Given the description of an element on the screen output the (x, y) to click on. 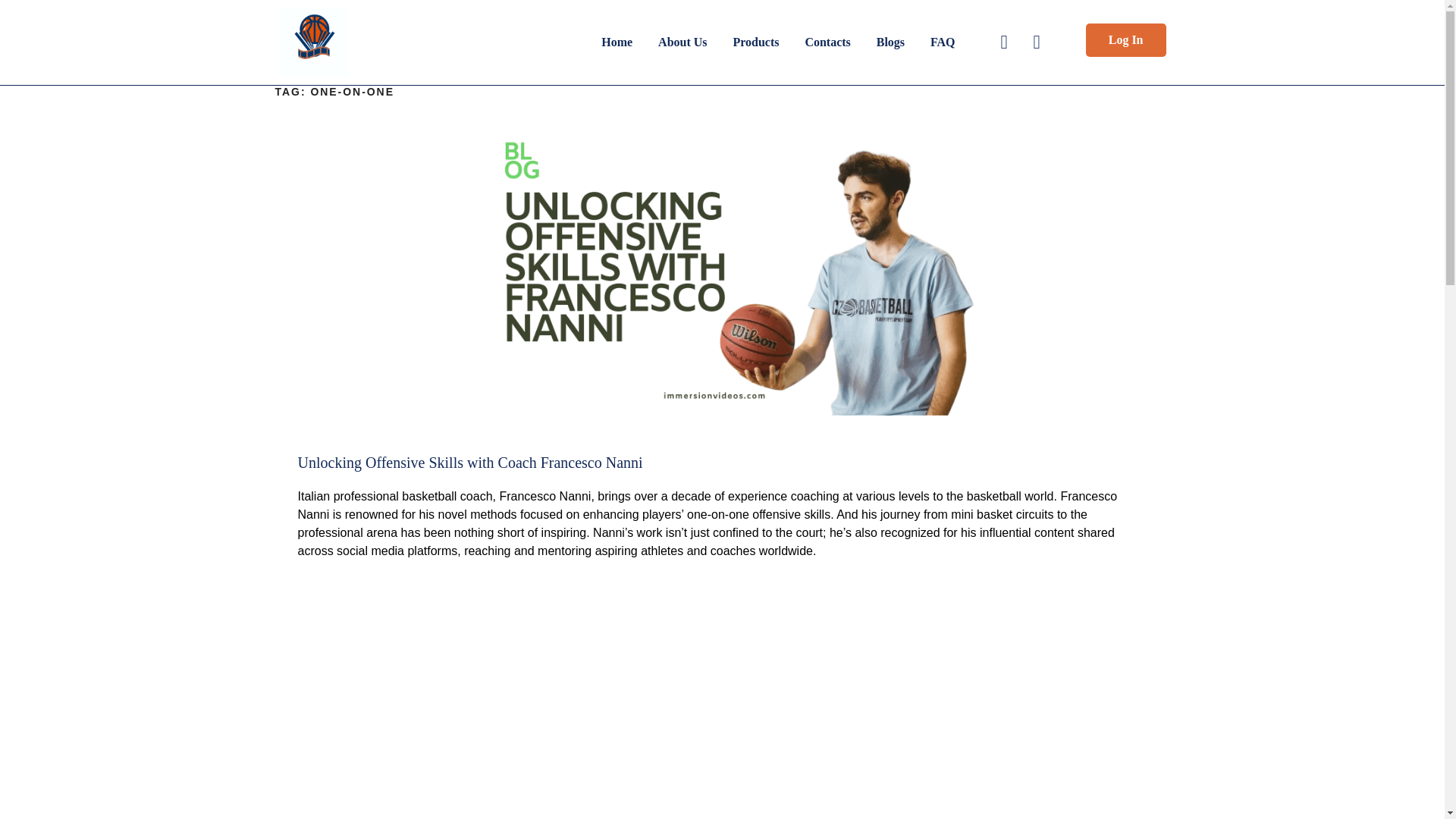
Log In (1126, 39)
Blogs (901, 42)
Home (628, 42)
Contacts (838, 42)
FAQ (942, 42)
About Us (693, 42)
Products (767, 42)
